Given the description of an element on the screen output the (x, y) to click on. 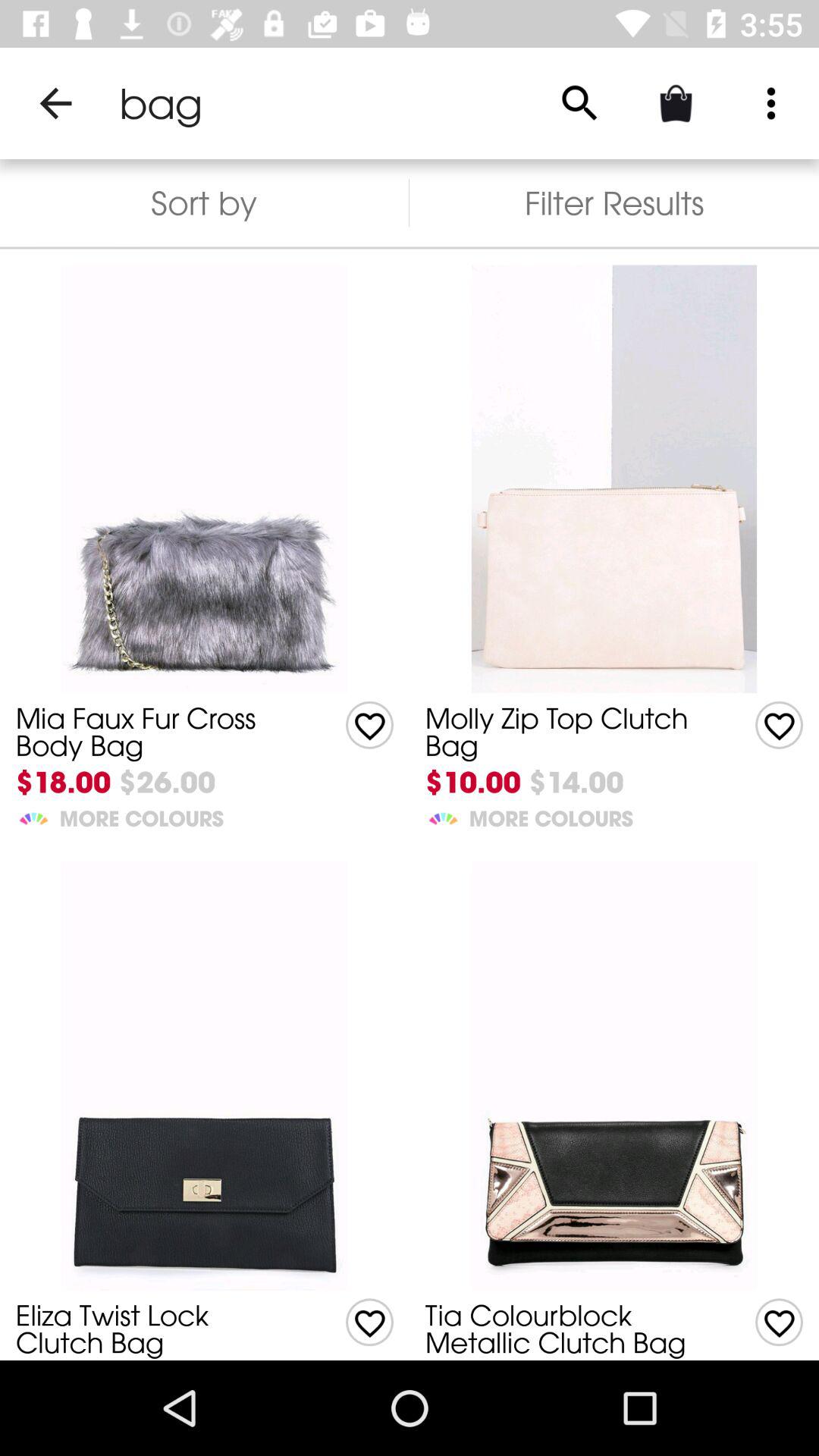
favorite item (369, 725)
